Given the description of an element on the screen output the (x, y) to click on. 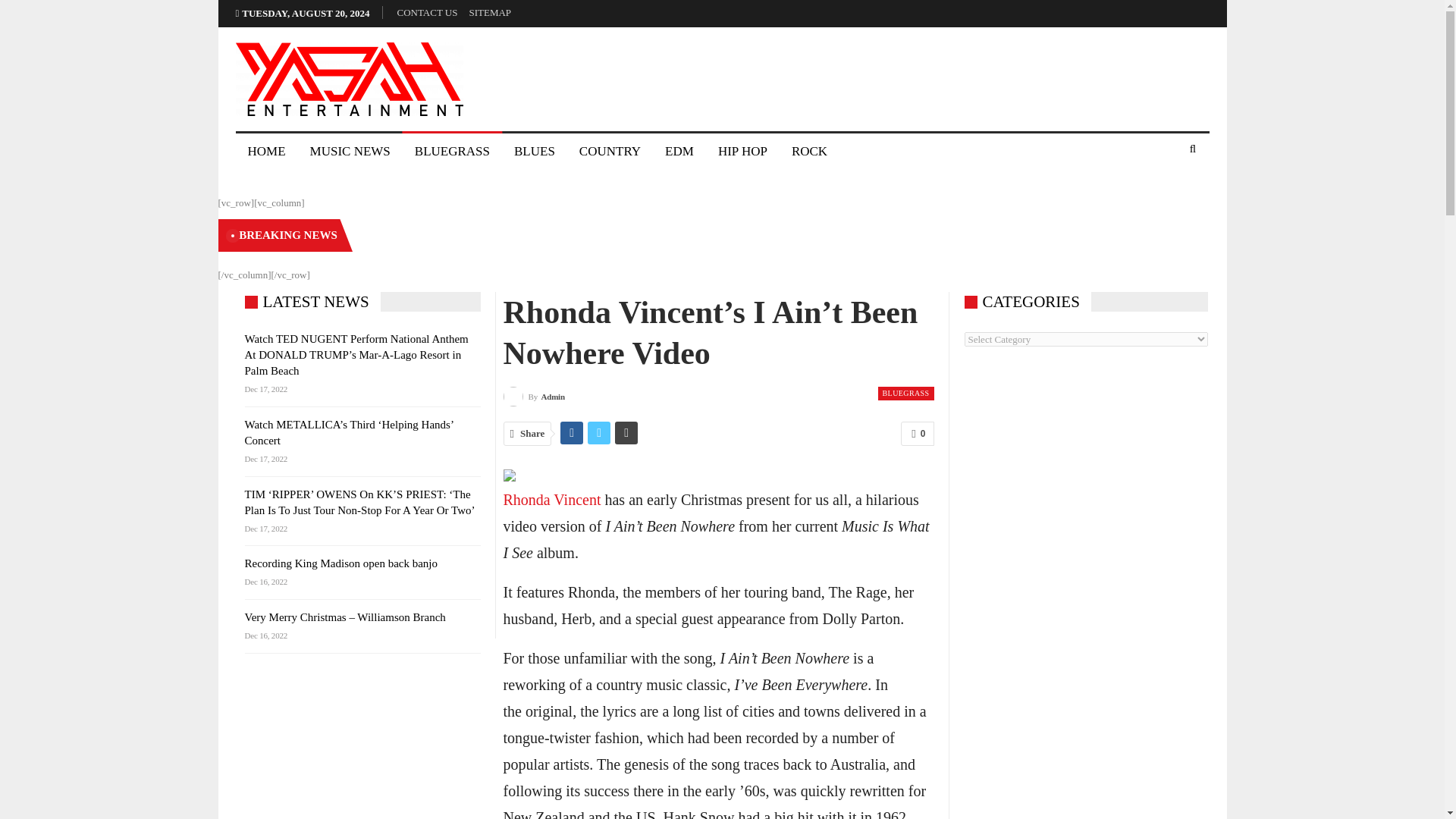
BLUEGRASS (452, 151)
BLUES (534, 151)
0 (917, 433)
COUNTRY (609, 151)
BLUEGRASS (905, 393)
Rhonda Vincent (552, 499)
HOME (265, 151)
MUSIC NEWS (350, 151)
Browse Author Articles (533, 395)
SITEMAP (489, 12)
